Given the description of an element on the screen output the (x, y) to click on. 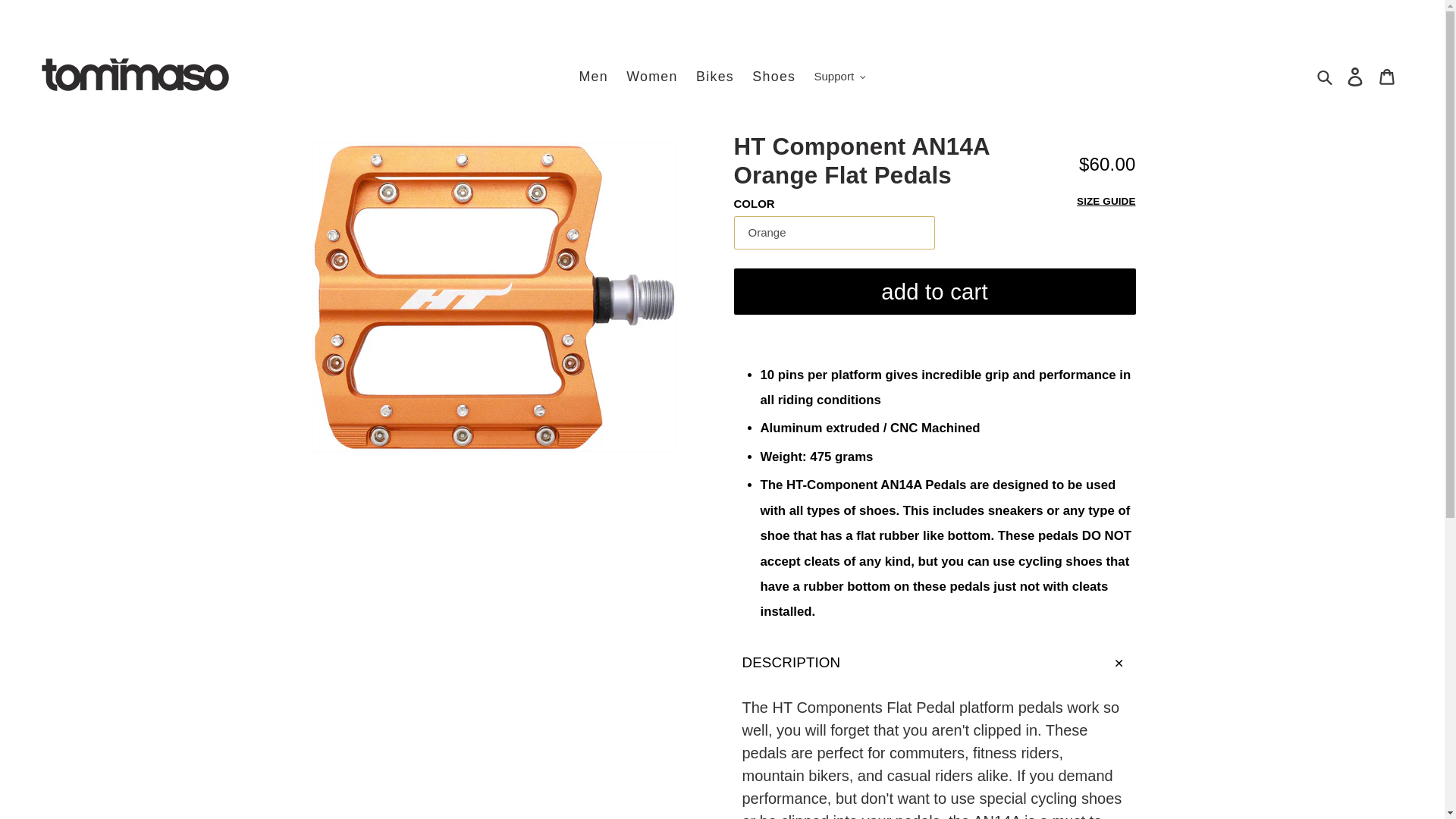
Bikes (714, 76)
SIZE GUIDE (1106, 201)
Log in (1355, 76)
Cart (1387, 76)
Women (651, 76)
Shoes (773, 76)
HT Component AN14A Orange Flat Pedals (496, 297)
Men (592, 76)
Support (839, 76)
